Given the description of an element on the screen output the (x, y) to click on. 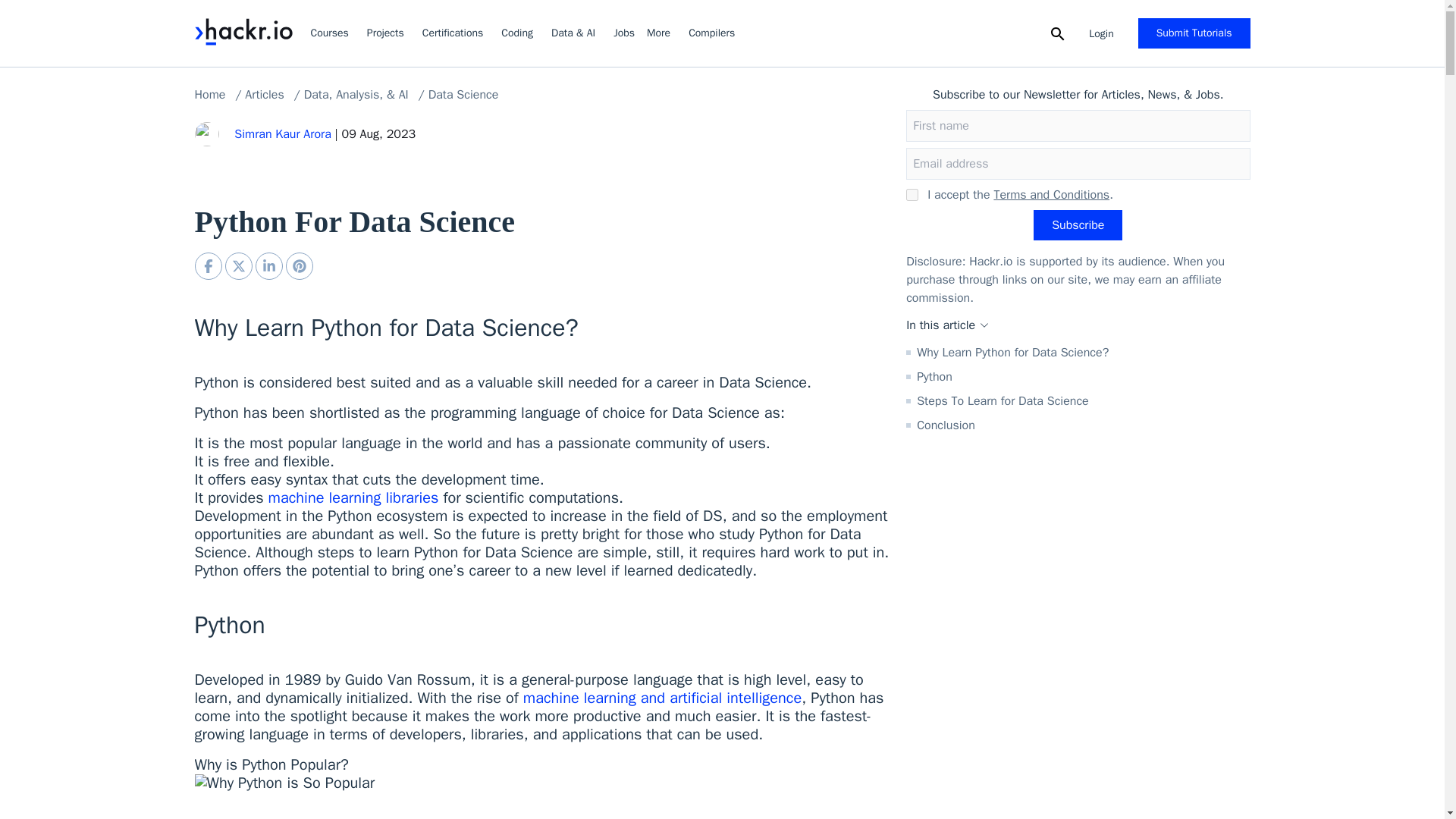
Share on Linkedin (268, 266)
Python For Data Science (207, 266)
Submit Tutorials (1194, 33)
Jobs (623, 33)
Share on X (237, 266)
on (911, 194)
Share on Pinterest (299, 266)
Login (1101, 33)
